Given the description of an element on the screen output the (x, y) to click on. 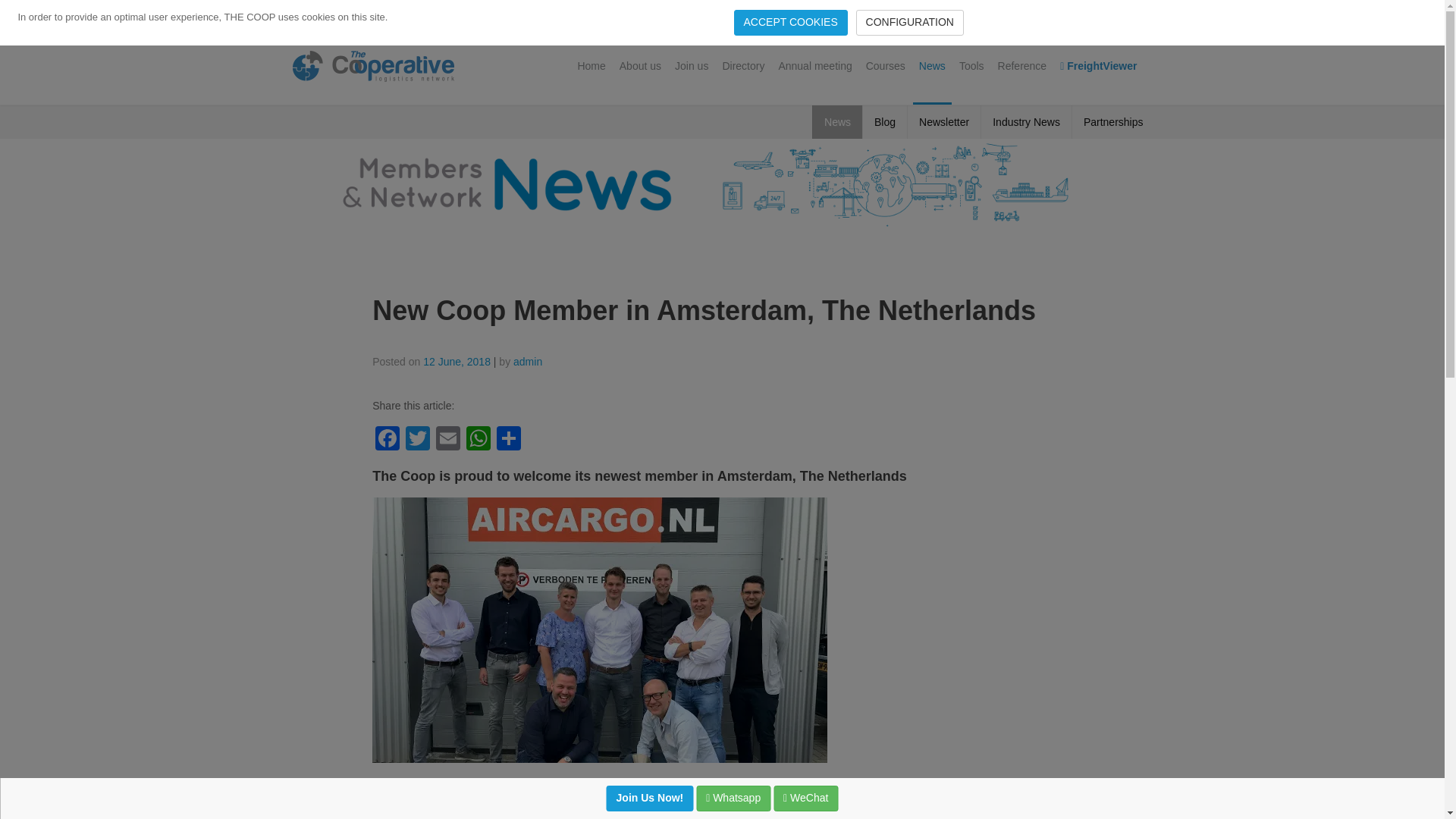
Newsletter (943, 121)
Email (447, 439)
admin (527, 361)
WhatsApp (478, 439)
Facebook (387, 439)
Email (447, 439)
WhatsApp (478, 439)
Annual meeting (814, 65)
Twitter (417, 439)
Contact Us (1047, 14)
